Given the description of an element on the screen output the (x, y) to click on. 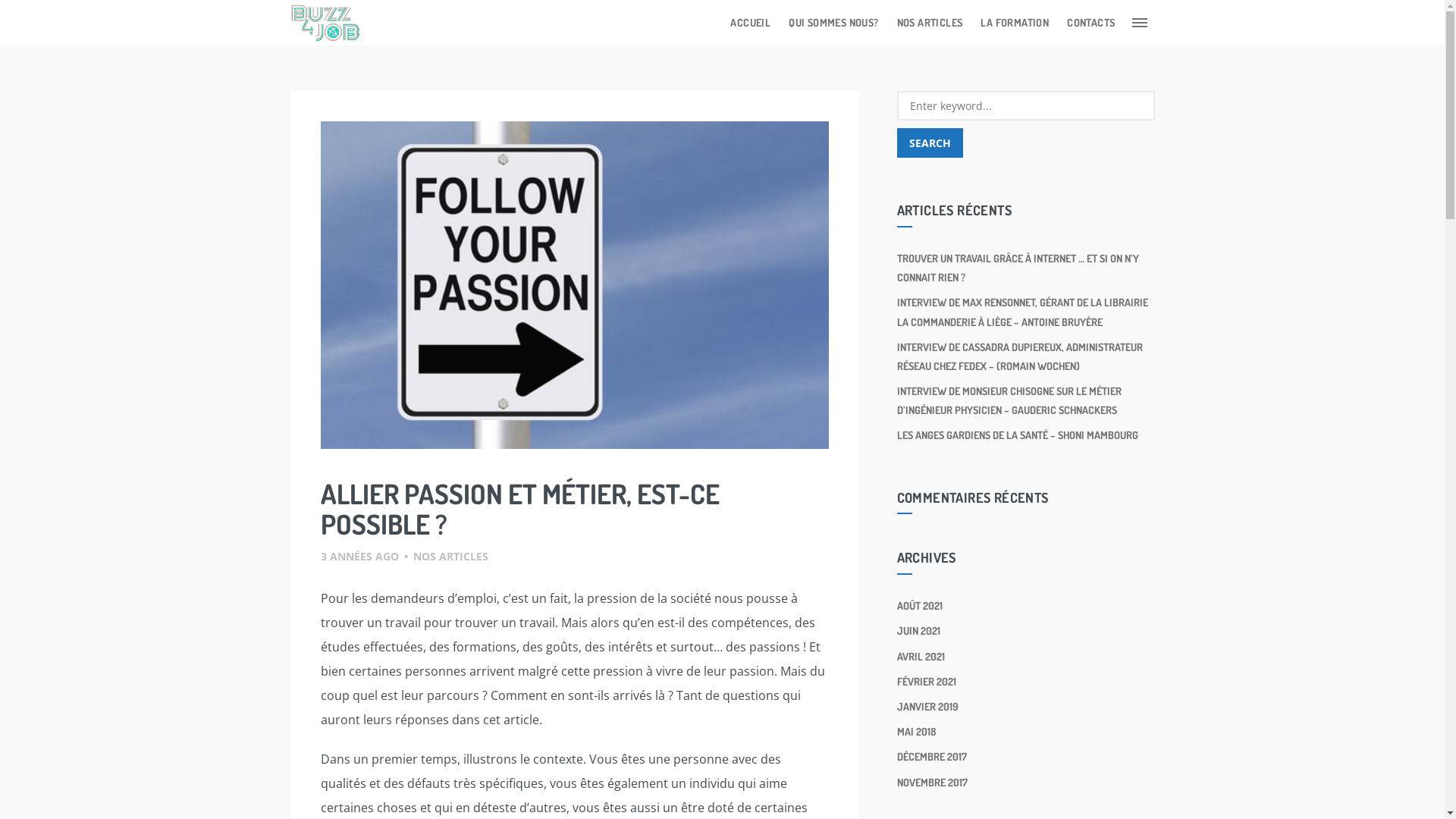
LA FORMATION Element type: text (1014, 22)
CONTACTS Element type: text (1090, 22)
NOS ARTICLES Element type: text (930, 22)
Search for: Element type: hover (1025, 105)
NOS ARTICLES Element type: text (449, 556)
ACCUEIL Element type: text (750, 22)
QUI SOMMES NOUS? Element type: text (833, 22)
JUIN 2021 Element type: text (917, 630)
Search Element type: text (929, 142)
MAI 2018 Element type: text (915, 730)
AVRIL 2021 Element type: text (920, 655)
JANVIER 2019 Element type: text (926, 705)
NOVEMBRE 2017 Element type: text (931, 781)
